Given the description of an element on the screen output the (x, y) to click on. 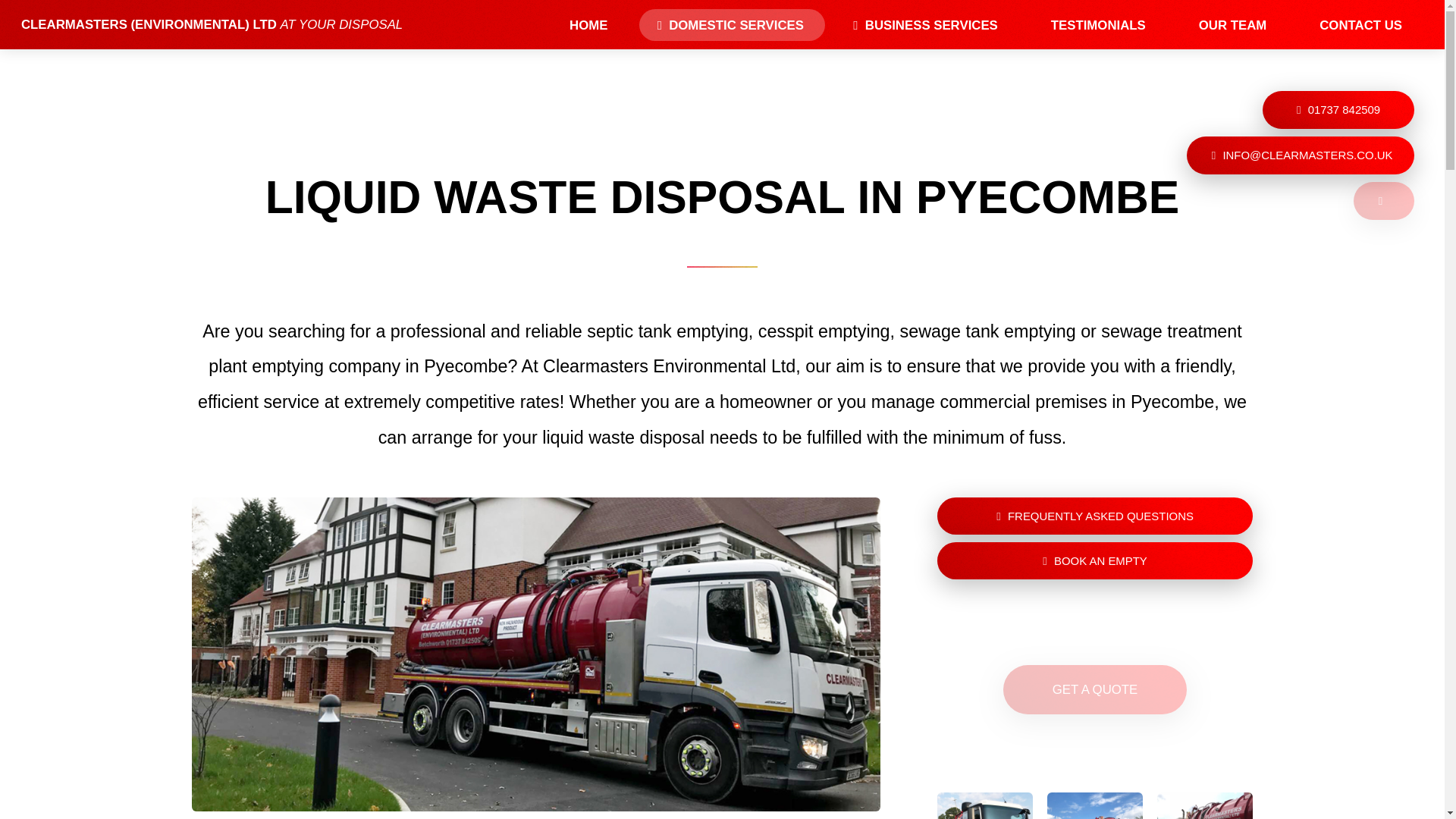
HOME (588, 24)
FREQUENTLY ASKED QUESTIONS (1095, 515)
OUR TEAM (1232, 24)
GET A QUOTE (1095, 689)
BUSINESS SERVICES (927, 24)
DOMESTIC SERVICES (732, 24)
TESTIMONIALS (1098, 24)
CONTACT US (1360, 24)
BOOK AN EMPTY (1095, 560)
